Given the description of an element on the screen output the (x, y) to click on. 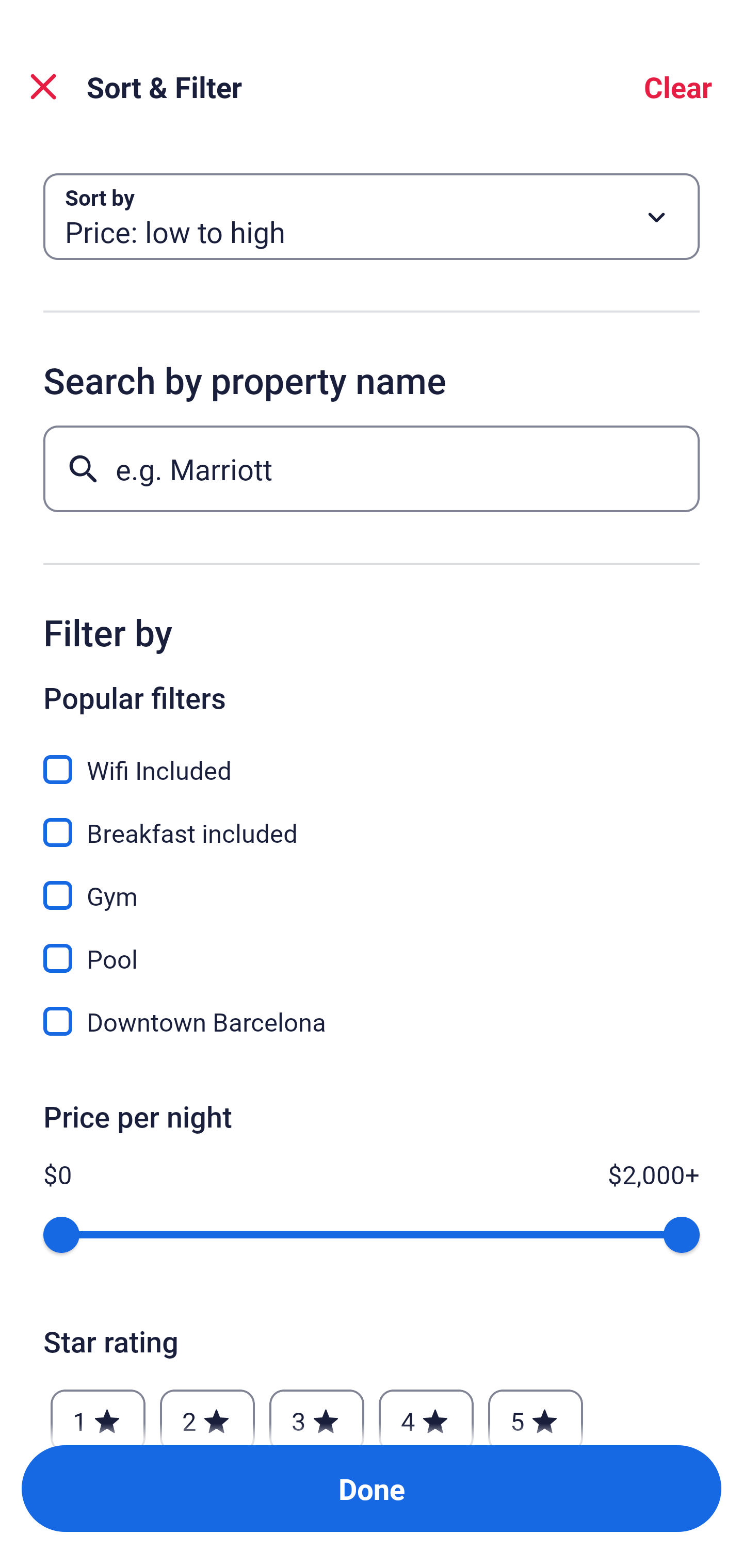
Close Sort and Filter (43, 86)
Clear (677, 86)
Sort by Button Price: low to high (371, 217)
e.g. Marriott Button (371, 468)
Wifi Included, Wifi Included (371, 757)
Breakfast included, Breakfast included (371, 821)
Gym, Gym (371, 883)
Pool, Pool (371, 946)
Downtown Barcelona, Downtown Barcelona (371, 1021)
1 (97, 1411)
2 (206, 1411)
3 (316, 1411)
4 (426, 1411)
5 (535, 1411)
Apply and close Sort and Filter Done (371, 1488)
